Given the description of an element on the screen output the (x, y) to click on. 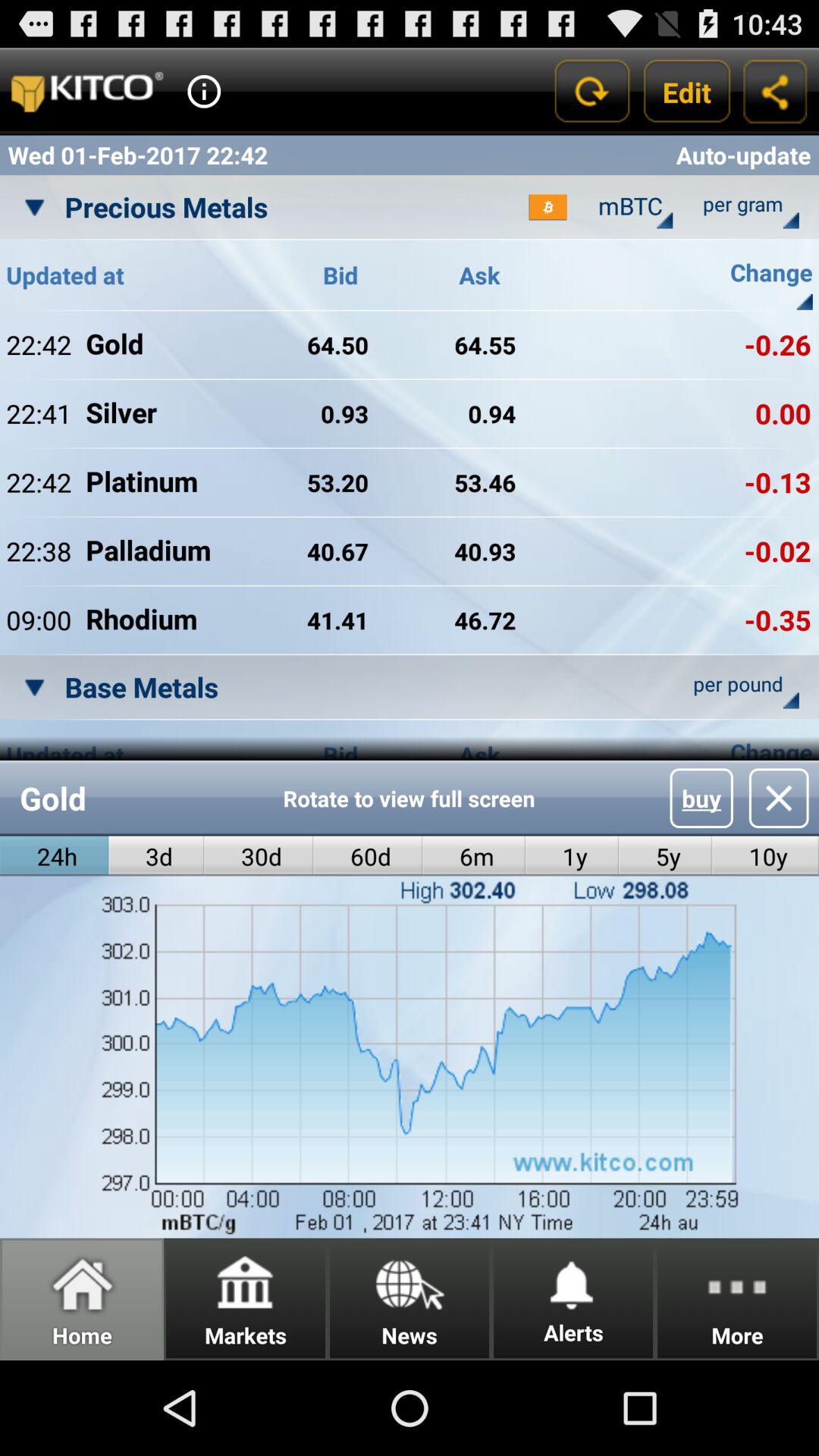
delete window (778, 798)
